Given the description of an element on the screen output the (x, y) to click on. 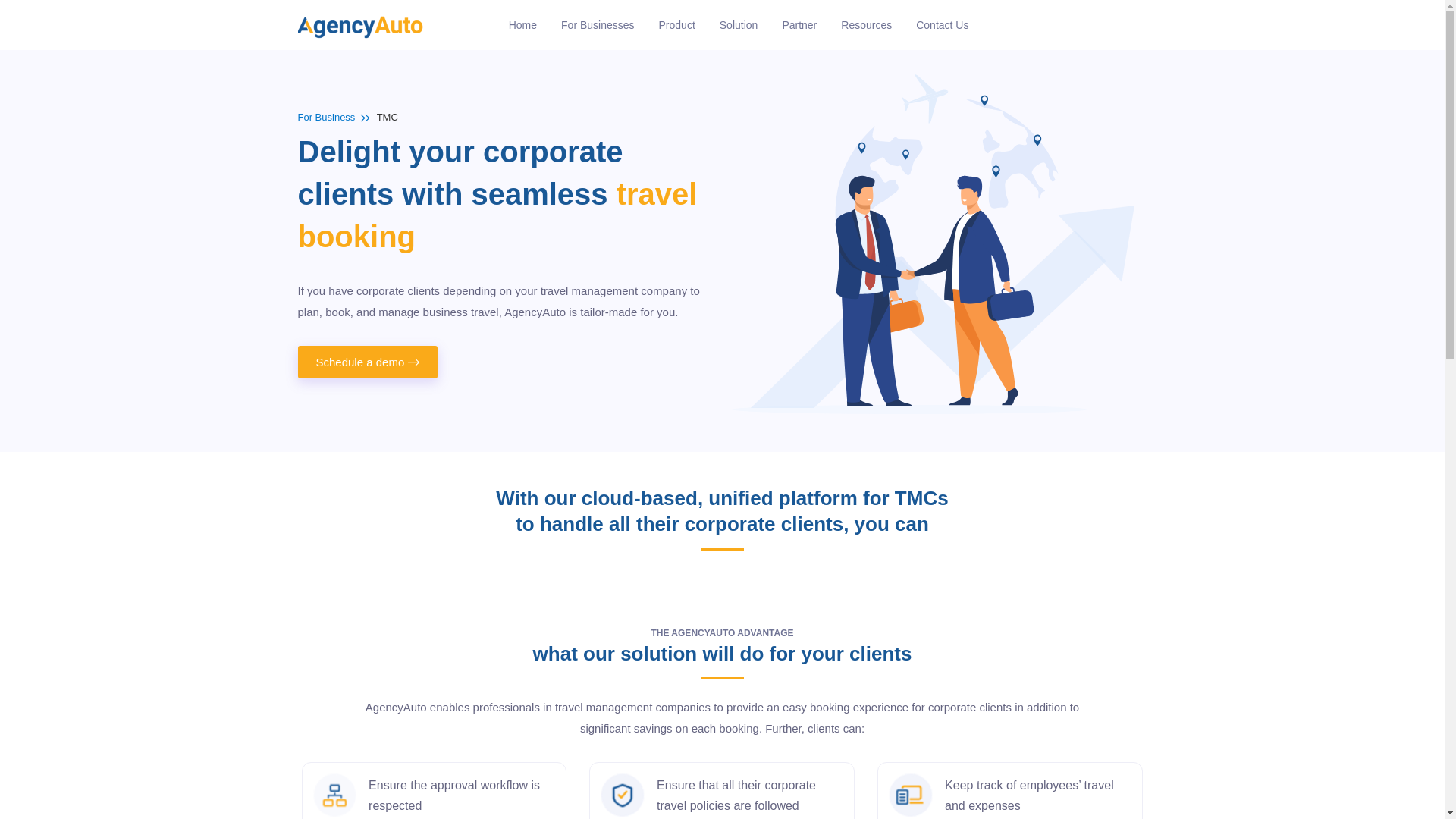
Partner (799, 24)
Home (522, 24)
Contact Us (941, 24)
Product (676, 24)
Solution (738, 24)
For Businesses (597, 24)
Resources (866, 24)
